Given the description of an element on the screen output the (x, y) to click on. 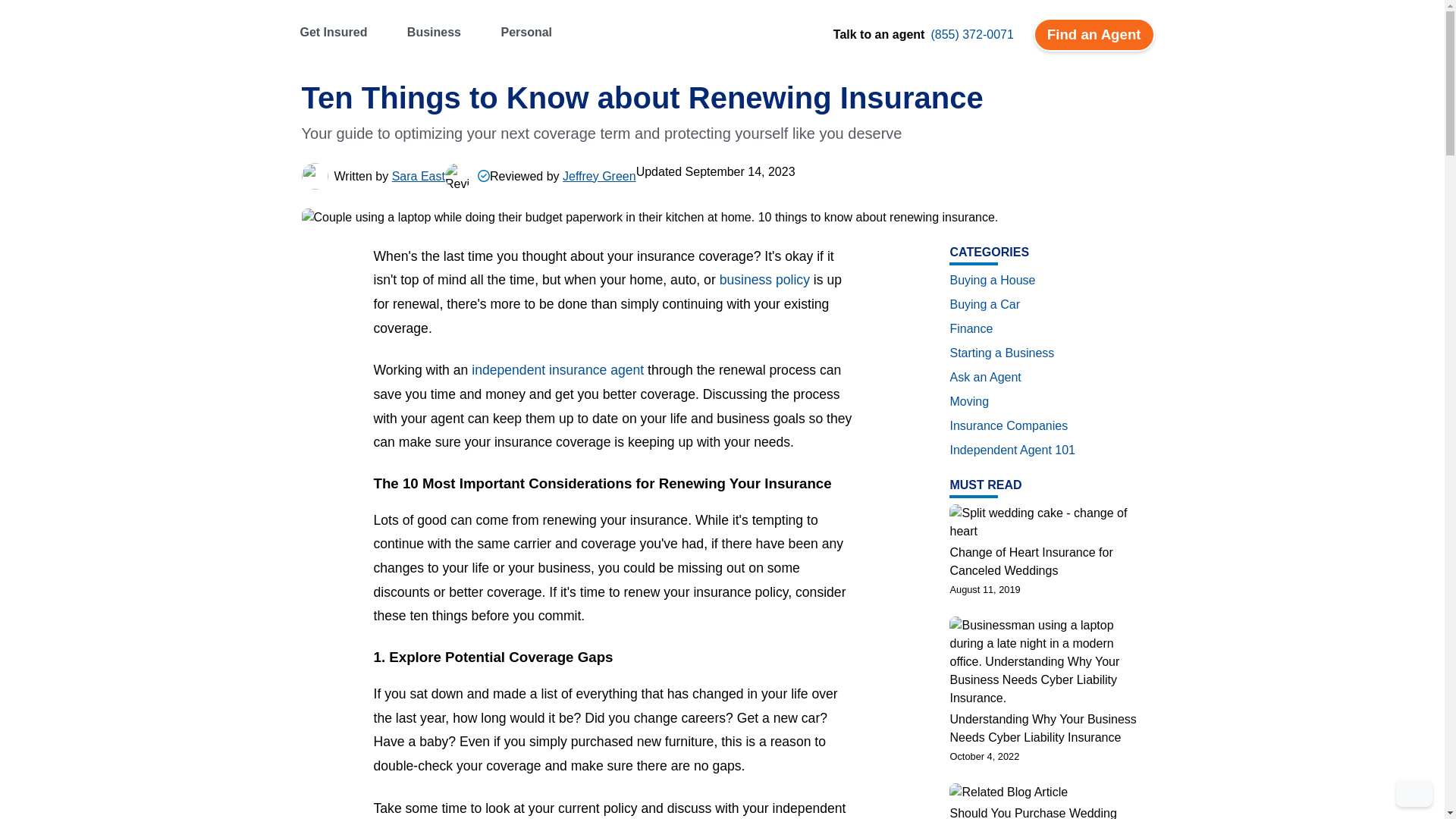
Homepage (682, 43)
Business (444, 31)
Personal (536, 31)
Find an Agent (1093, 34)
Get Insured (343, 31)
